Given the description of an element on the screen output the (x, y) to click on. 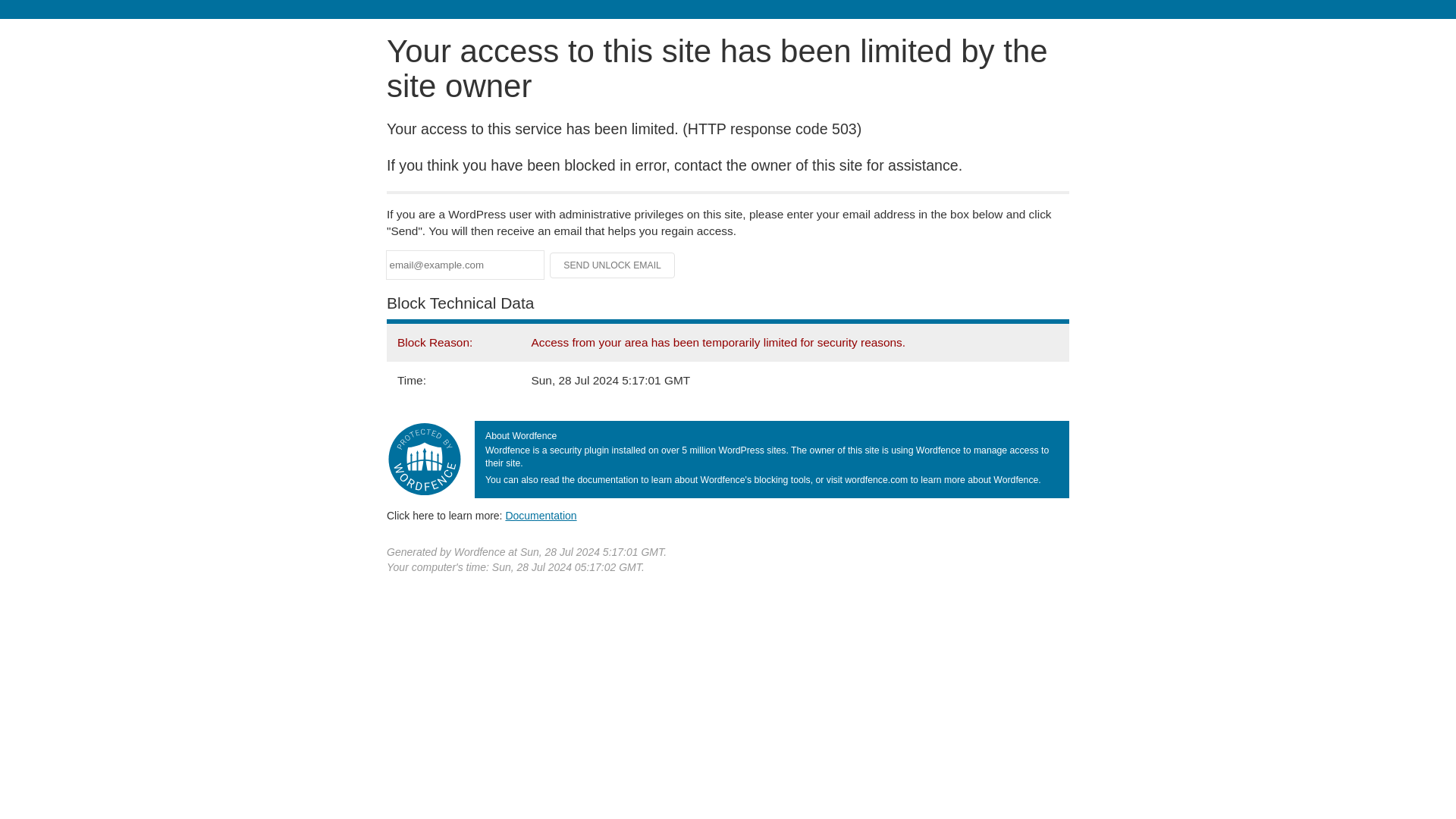
Documentation (540, 515)
Send Unlock Email (612, 265)
Send Unlock Email (612, 265)
